Given the description of an element on the screen output the (x, y) to click on. 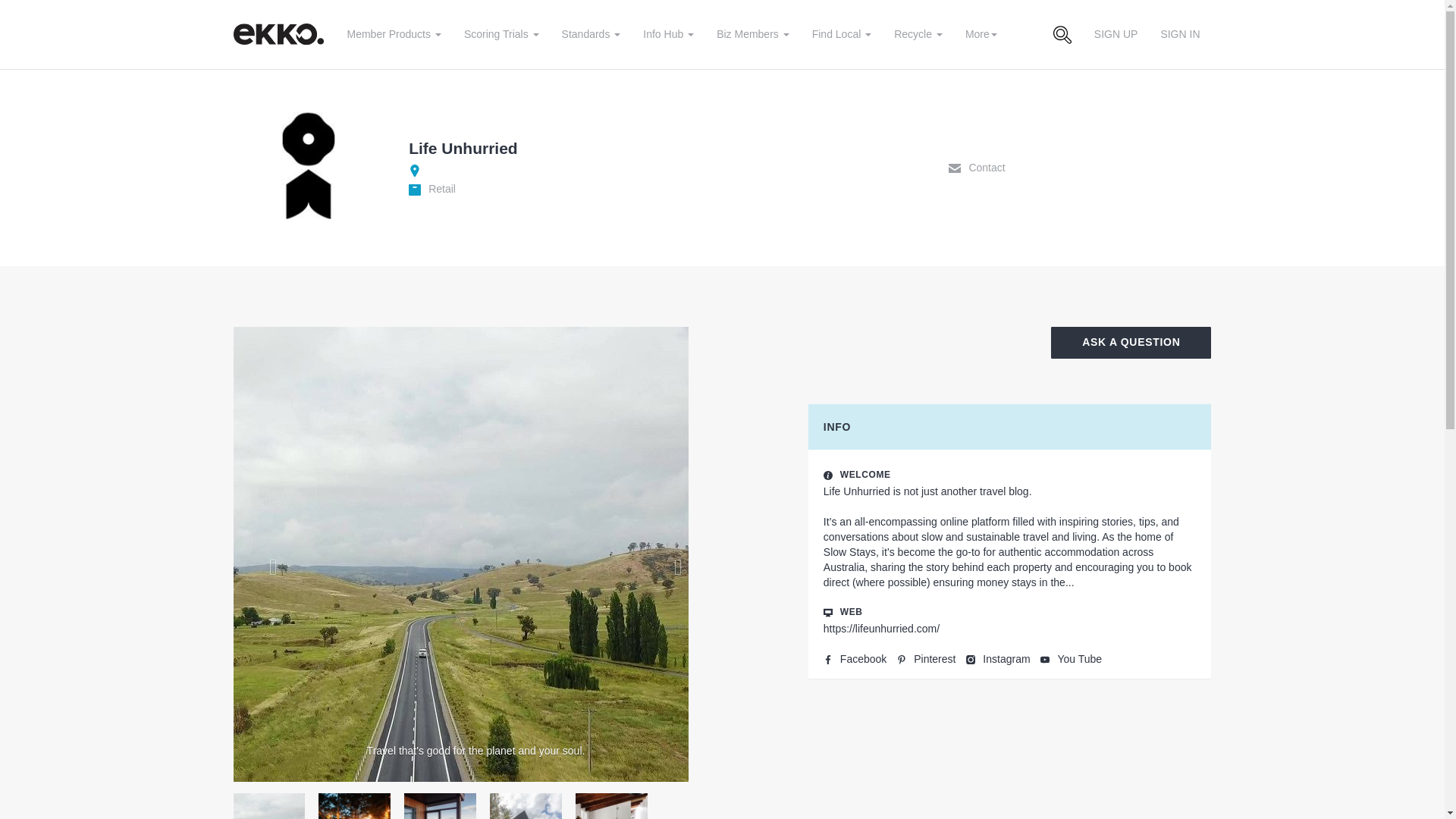
Ekko (281, 33)
Skip to main content (10, 10)
Standards (590, 33)
Scoring Trials (501, 33)
Info Hub (667, 33)
Member Products (392, 33)
